Given the description of an element on the screen output the (x, y) to click on. 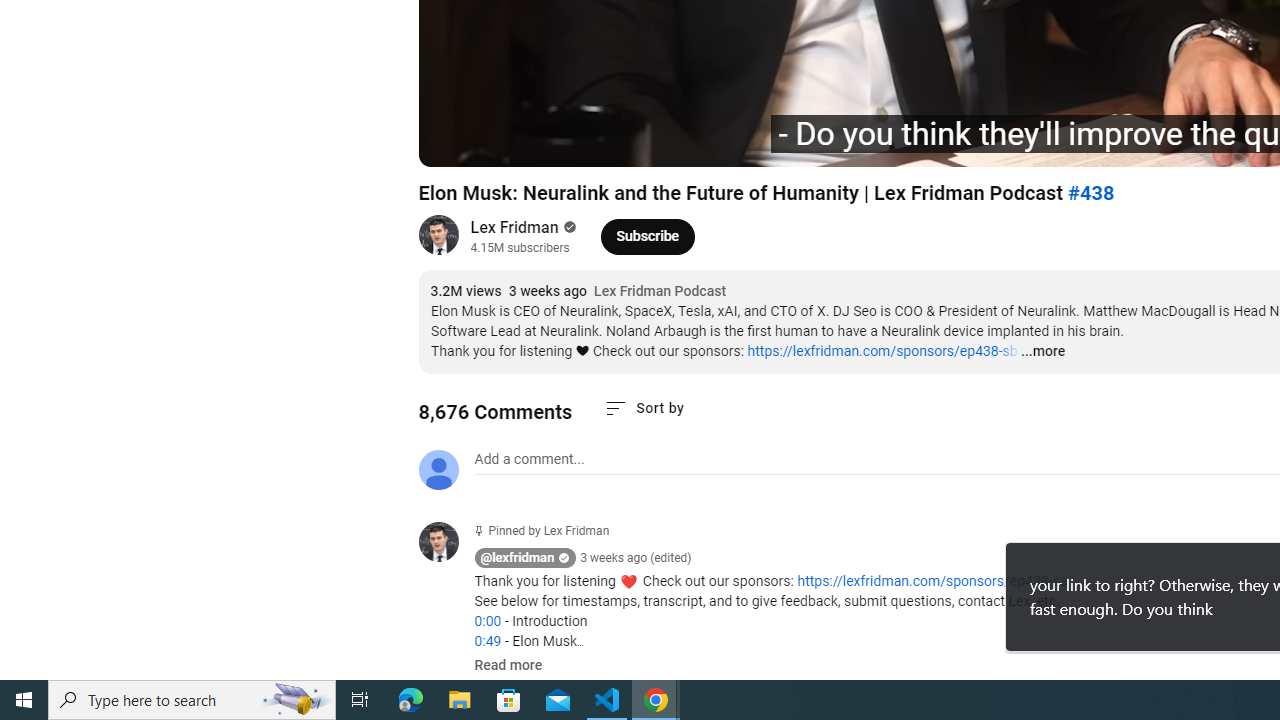
...more (1042, 352)
Verified (567, 227)
https://lexfridman.com/sponsors/ep438-sa (932, 581)
Mute (m) (548, 142)
AutomationID: simplebox-placeholder (528, 459)
@lexfridman (446, 543)
Play (k) (453, 142)
Lex Fridman (514, 227)
0:00 (487, 621)
Sort comments (644, 408)
Default profile photo (438, 470)
3 weeks ago (edited) (635, 557)
@lexfridman (517, 557)
